Given the description of an element on the screen output the (x, y) to click on. 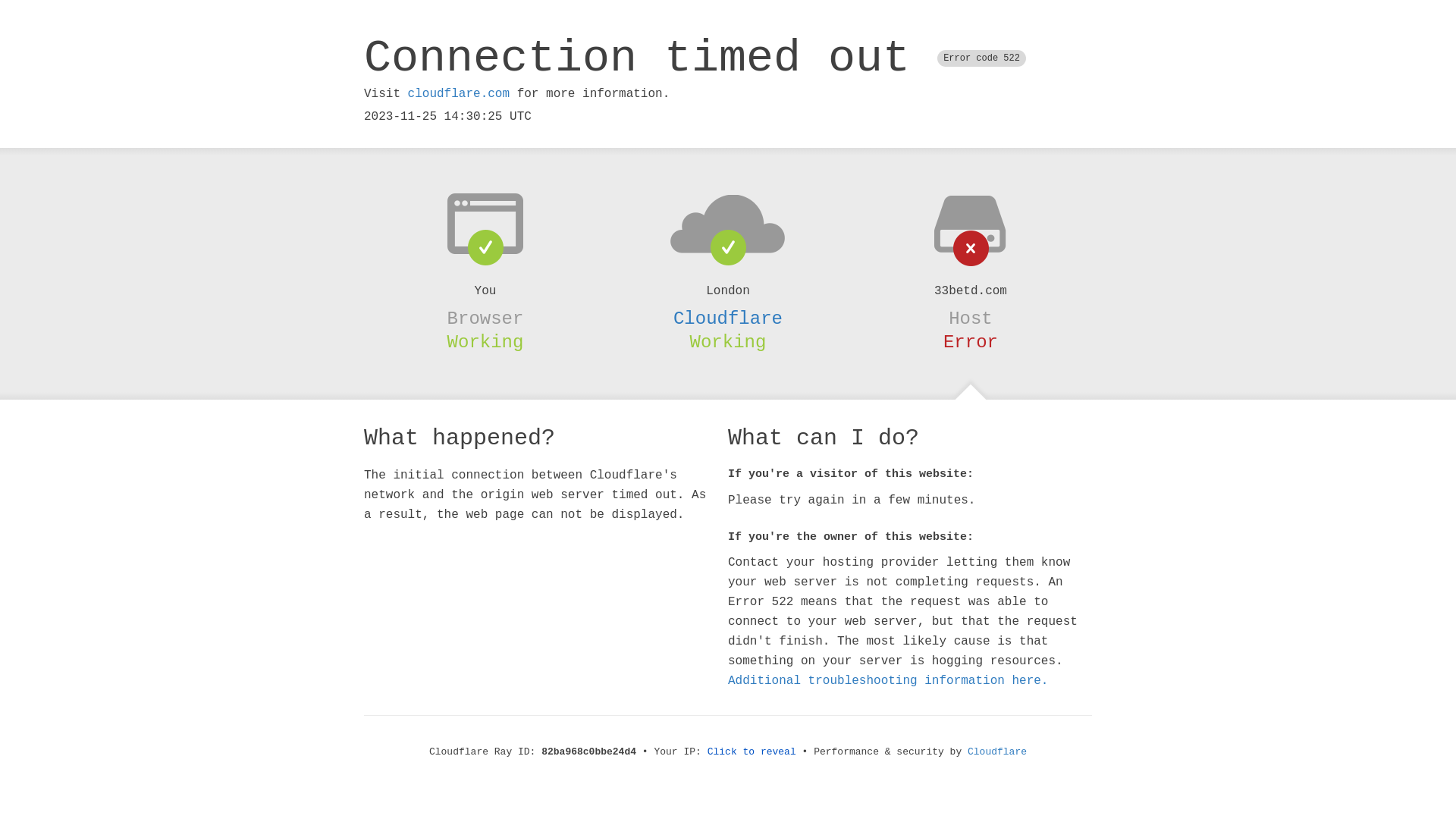
Click to reveal Element type: text (751, 751)
Additional troubleshooting information here. Element type: text (888, 680)
Cloudflare Element type: text (996, 751)
cloudflare.com Element type: text (458, 93)
Cloudflare Element type: text (727, 318)
